Given the description of an element on the screen output the (x, y) to click on. 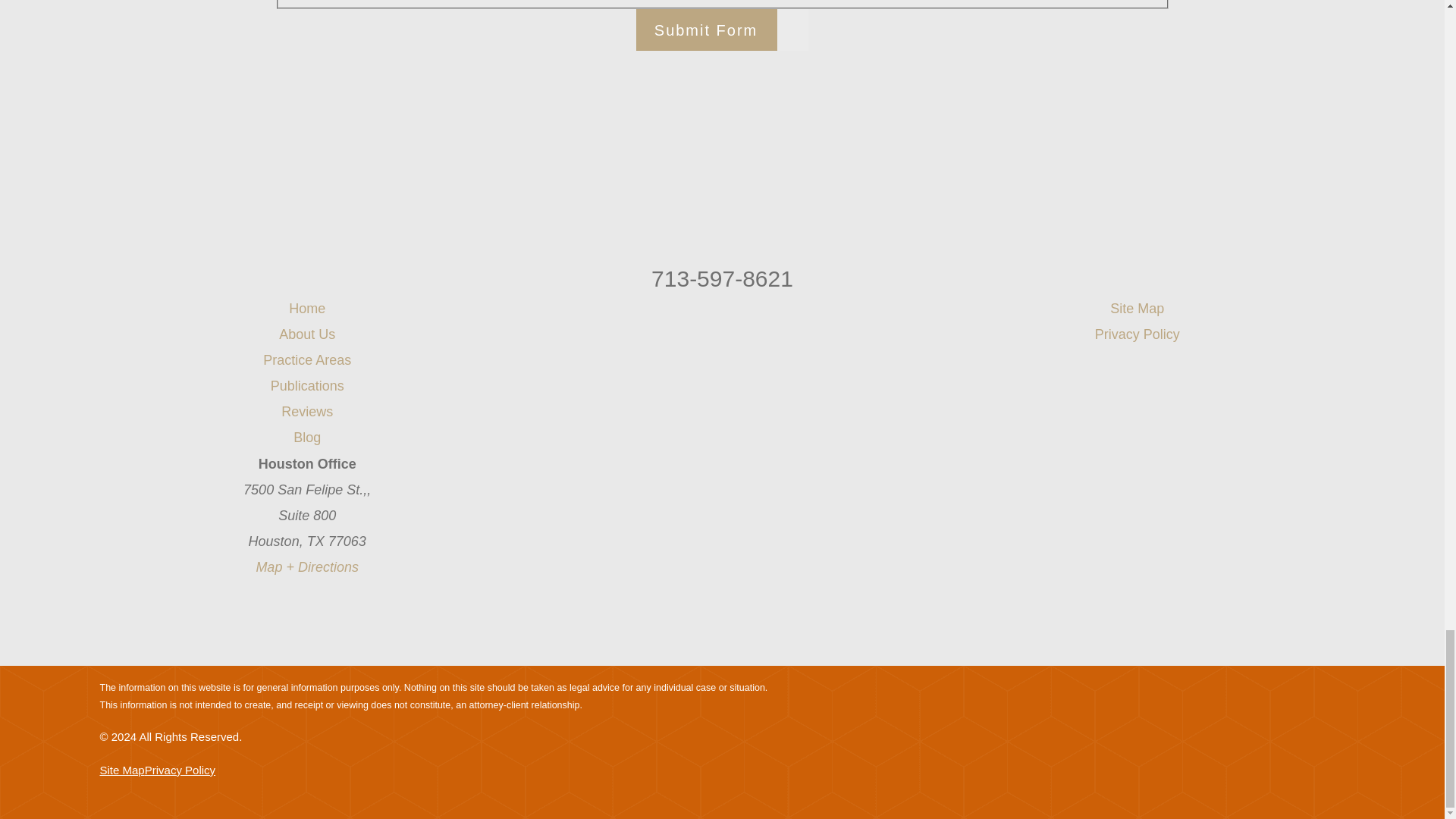
LinkedIn (759, 315)
Twitter (721, 315)
Facebook (683, 315)
